Given the description of an element on the screen output the (x, y) to click on. 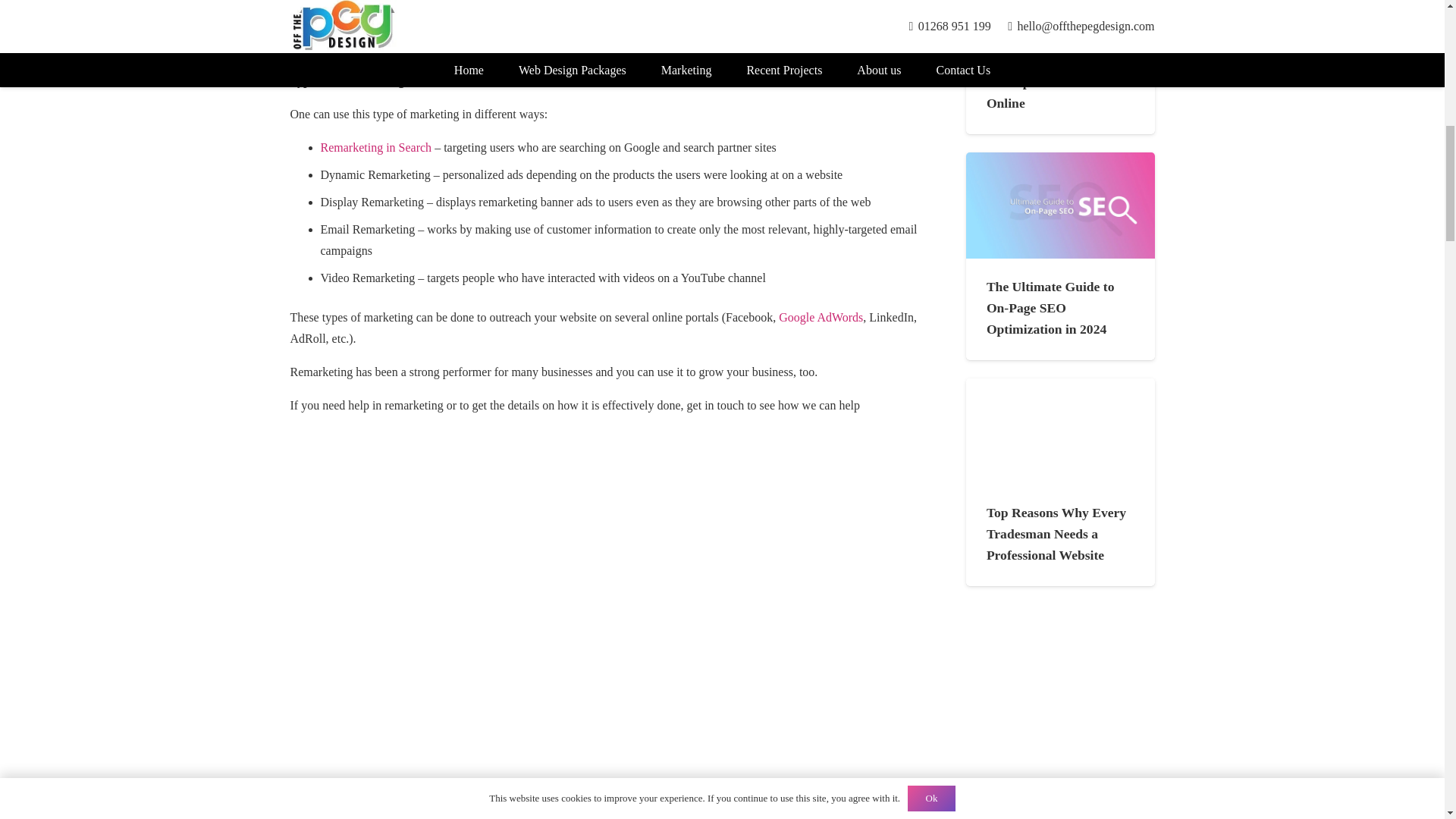
Google AdWords (820, 317)
Remarketing in Search (375, 146)
